Given the description of an element on the screen output the (x, y) to click on. 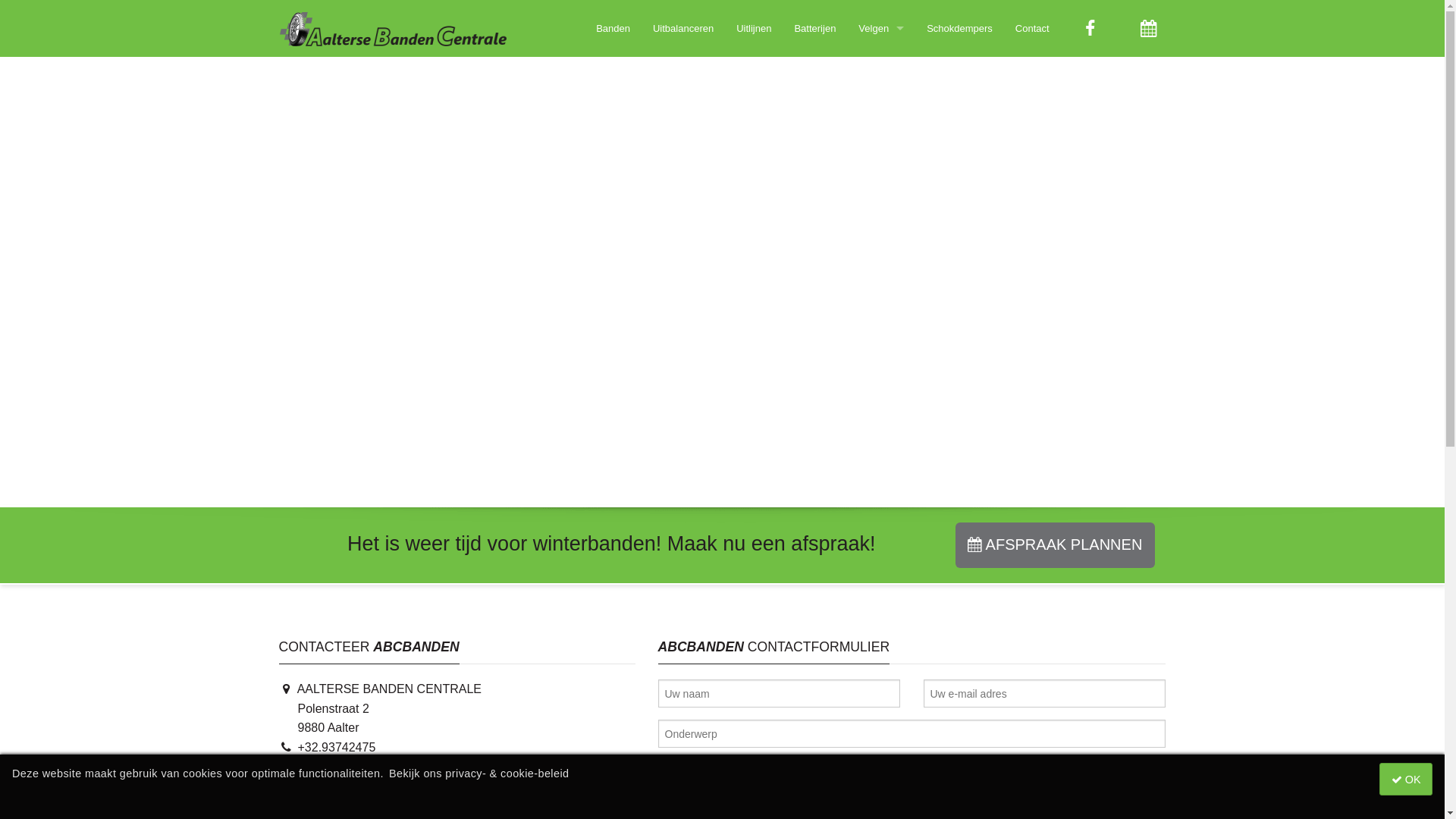
Startpagina Aalterse Banden Centrale Element type: hover (391, 28)
info@abcbanden.be Element type: text (342, 785)
Bekijk ons privacy- & cookie-beleid Element type: text (478, 773)
Velgen Element type: text (881, 28)
Schokdempers Element type: text (959, 28)
Banden Element type: text (612, 28)
Velgen herstellen Element type: text (881, 62)
Maak online uw afspraak! Element type: hover (1148, 29)
VulcoABCBanden Element type: text (337, 805)
Uitlijnen Element type: text (753, 28)
Batterijen Element type: text (814, 28)
 OK Element type: text (1405, 778)
AFSPRAAK PLANNEN Element type: text (1054, 544)
Aalterse Banden Centrale op Facebook Element type: hover (1089, 29)
Uitbalanceren Element type: text (682, 28)
Contact Element type: text (1032, 28)
